Given the description of an element on the screen output the (x, y) to click on. 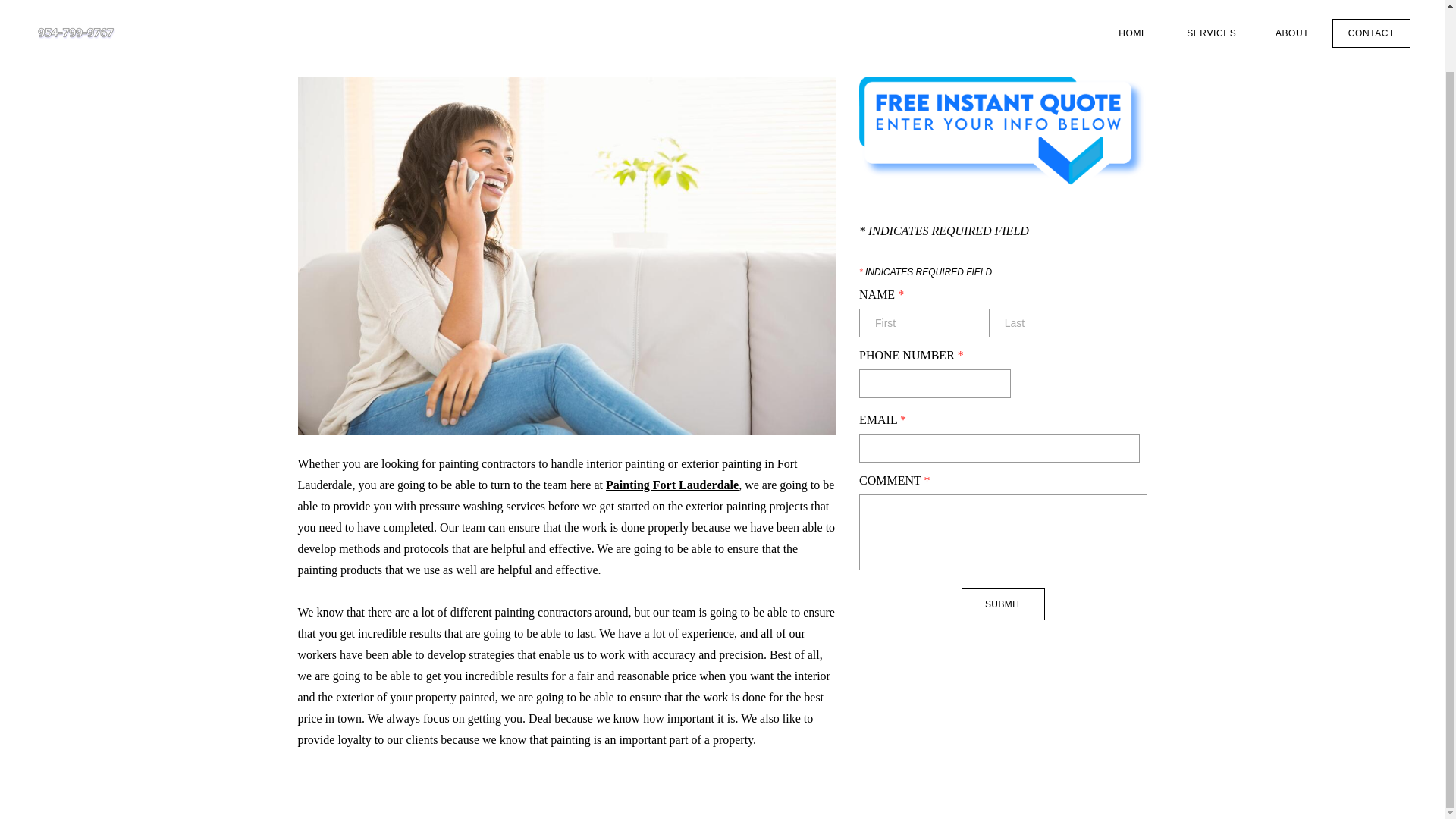
SUBMIT (1002, 603)
Painting Fort Lauderdale (671, 484)
